Given the description of an element on the screen output the (x, y) to click on. 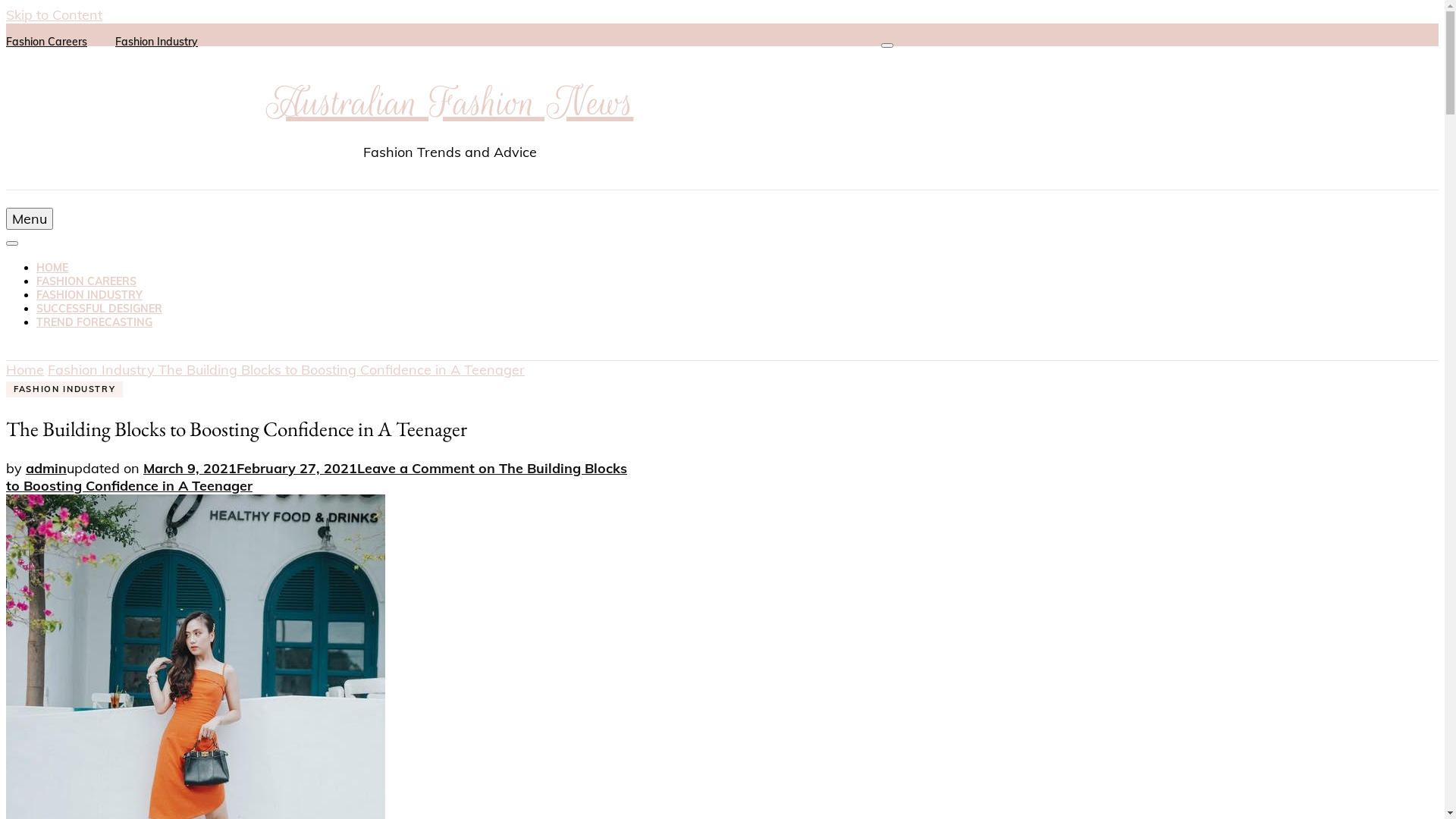
Menu Element type: text (29, 218)
Fashion Industry Element type: text (102, 369)
March 9, 2021February 27, 2021 Element type: text (250, 467)
SUCCESSFUL DESIGNER Element type: text (99, 308)
FASHION CAREERS Element type: text (86, 281)
The Building Blocks to Boosting Confidence in A Teenager Element type: text (341, 369)
TREND FORECASTING Element type: text (94, 322)
Australian Fashion News Element type: text (449, 102)
admin Element type: text (45, 467)
Fashion Careers Element type: text (46, 41)
FASHION INDUSTRY Element type: text (64, 389)
Home Element type: text (24, 369)
Fashion Industry Element type: text (156, 41)
FASHION INDUSTRY Element type: text (89, 294)
Skip to Content Element type: text (54, 14)
HOME Element type: text (52, 267)
